Given the description of an element on the screen output the (x, y) to click on. 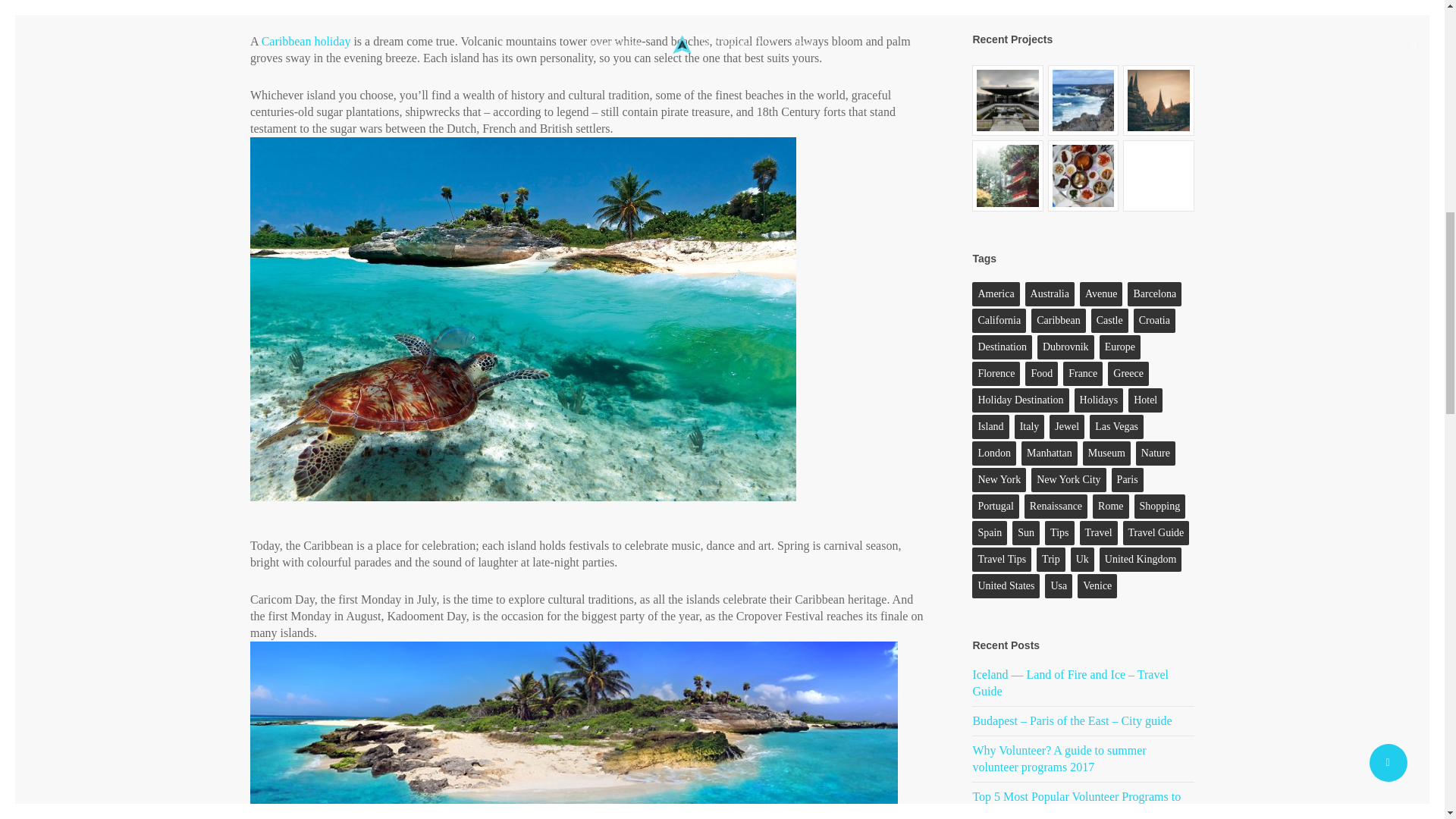
Barcelona (1153, 293)
Thailand-Cambodia (1157, 100)
Europe (1119, 346)
France (1082, 373)
Florence (996, 373)
Castle (1109, 320)
Caribbean holiday (306, 41)
Avenue (1101, 293)
California (999, 320)
Japan (1007, 175)
